Given the description of an element on the screen output the (x, y) to click on. 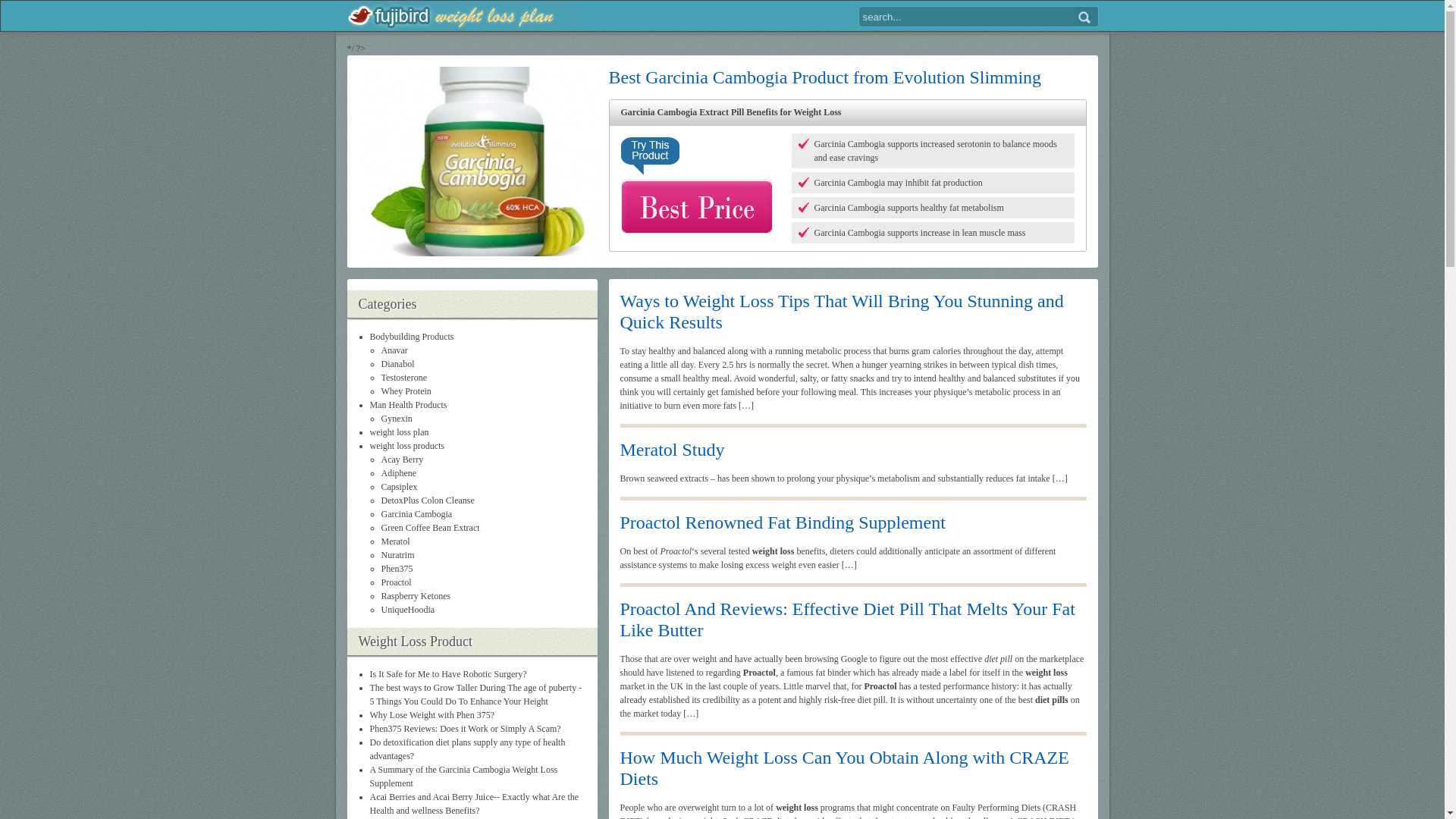
Green Coffee Bean Extract (429, 527)
Raspberry Ketones (414, 595)
Bodybuilding Products (411, 336)
Capsiplex (398, 486)
Testosterone (403, 377)
Dianabol (396, 363)
search... (966, 16)
Man Health Products (407, 404)
UniqueHoodia (406, 609)
